Given the description of an element on the screen output the (x, y) to click on. 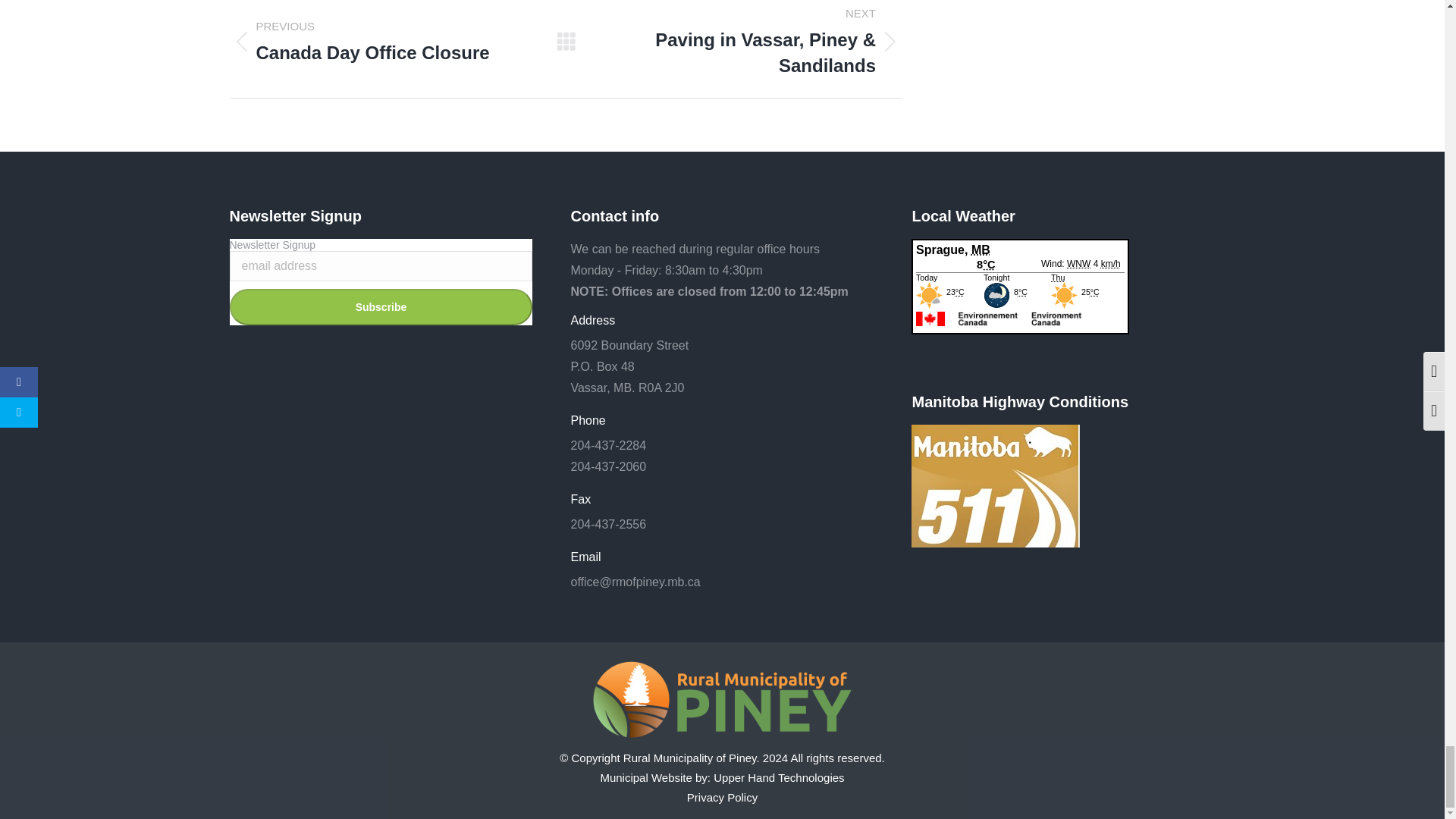
Environment Canada Weather (1020, 311)
Subscribe (380, 307)
